Given the description of an element on the screen output the (x, y) to click on. 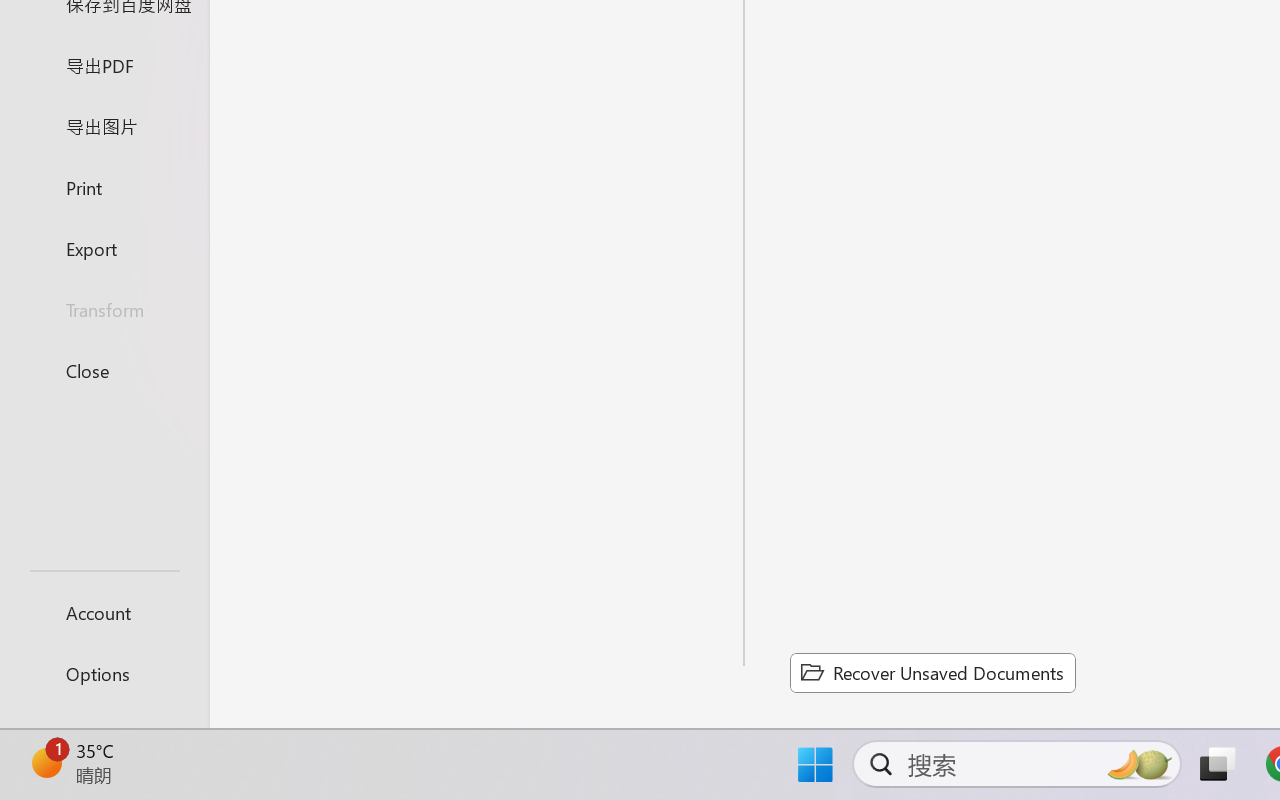
The Motley Fool Amazon: Buy, Sell, or Hold? 1 day ago (1095, 365)
